Given the description of an element on the screen output the (x, y) to click on. 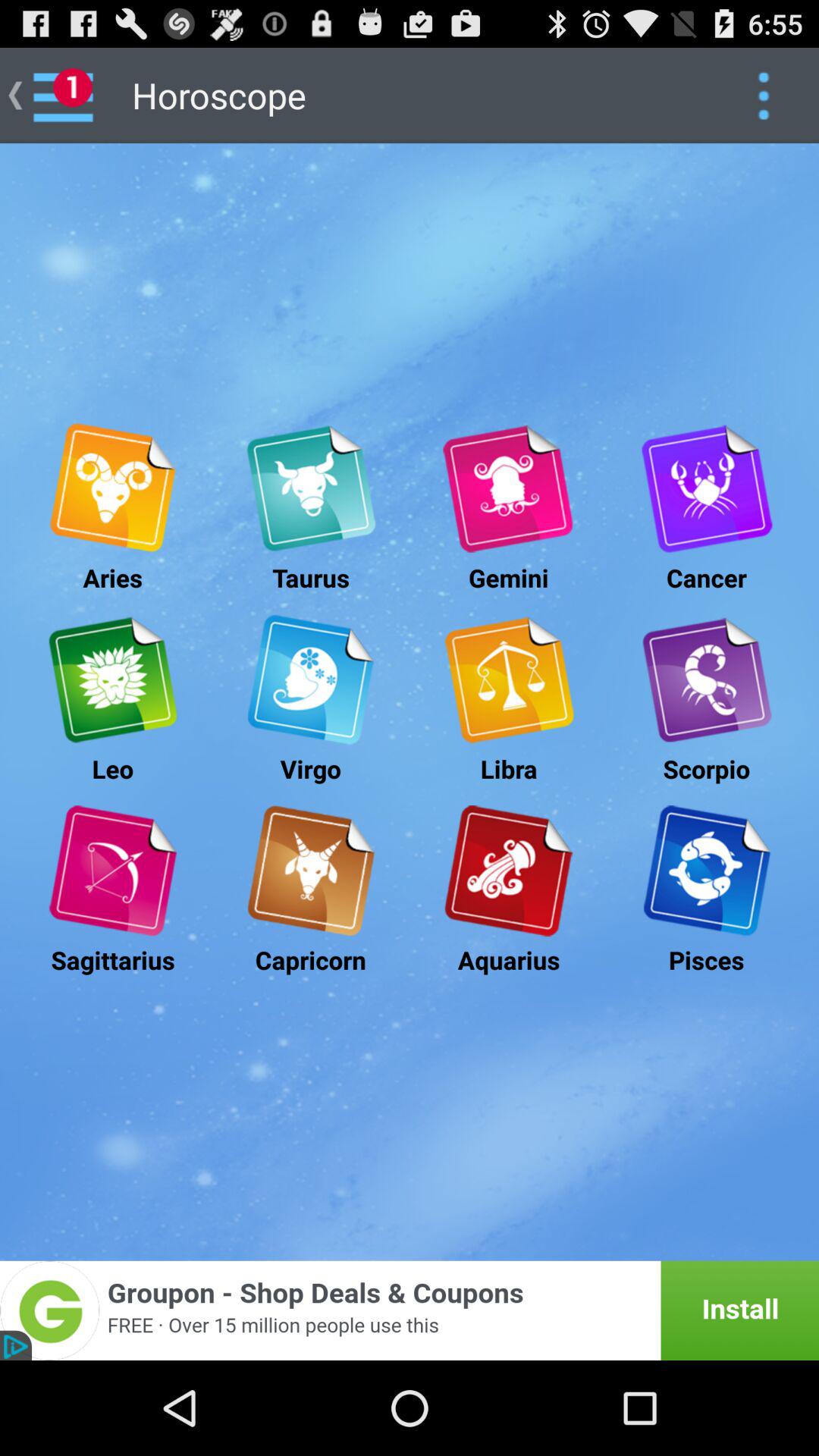
sagittarius horoscope (112, 870)
